Given the description of an element on the screen output the (x, y) to click on. 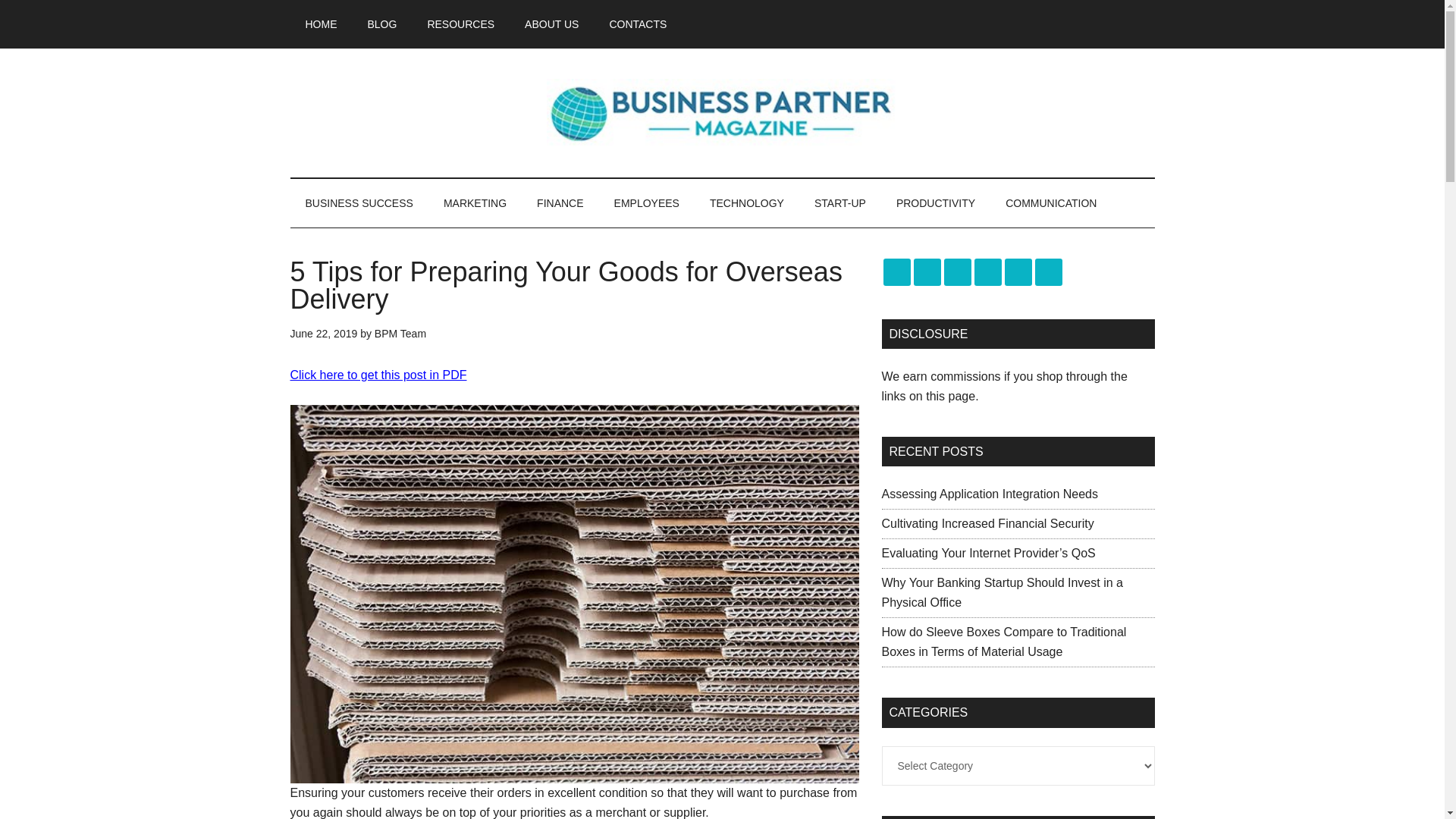
Click here to get this post in PDF (377, 374)
RESOURCES (460, 24)
CONTACTS (637, 24)
EMPLOYEES (646, 203)
PRODUCTIVITY (935, 203)
TECHNOLOGY (746, 203)
MARKETING (474, 203)
BPM Team (400, 333)
BUSINESS SUCCESS (358, 203)
Cultivating Increased Financial Security (986, 522)
ABOUT US (551, 24)
BLOG (382, 24)
Business Partner Magazine (721, 112)
FINANCE (559, 203)
HOME (320, 24)
